Given the description of an element on the screen output the (x, y) to click on. 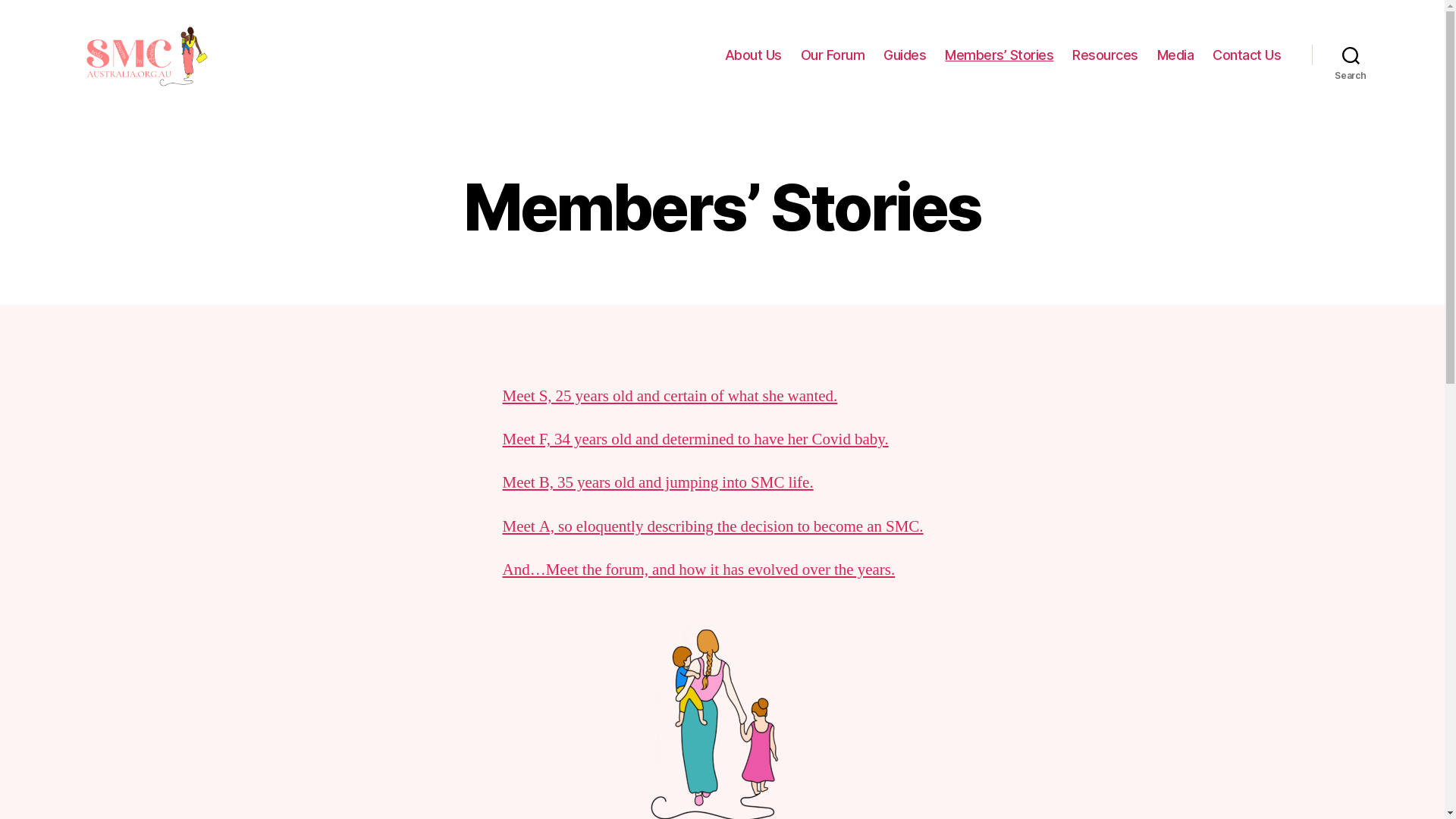
Guides Element type: text (904, 55)
Meet F, 34 years old and determined to have her Covid baby. Element type: text (695, 439)
Search Element type: text (1350, 55)
Our Forum Element type: text (832, 55)
About Us Element type: text (752, 55)
Resources Element type: text (1105, 55)
Meet S, 25 years old and certain of what she wanted. Element type: text (669, 395)
Contact Us Element type: text (1246, 55)
Media Element type: text (1175, 55)
Meet B, 35 years old and jumping into SMC life. Element type: text (657, 482)
